Given the description of an element on the screen output the (x, y) to click on. 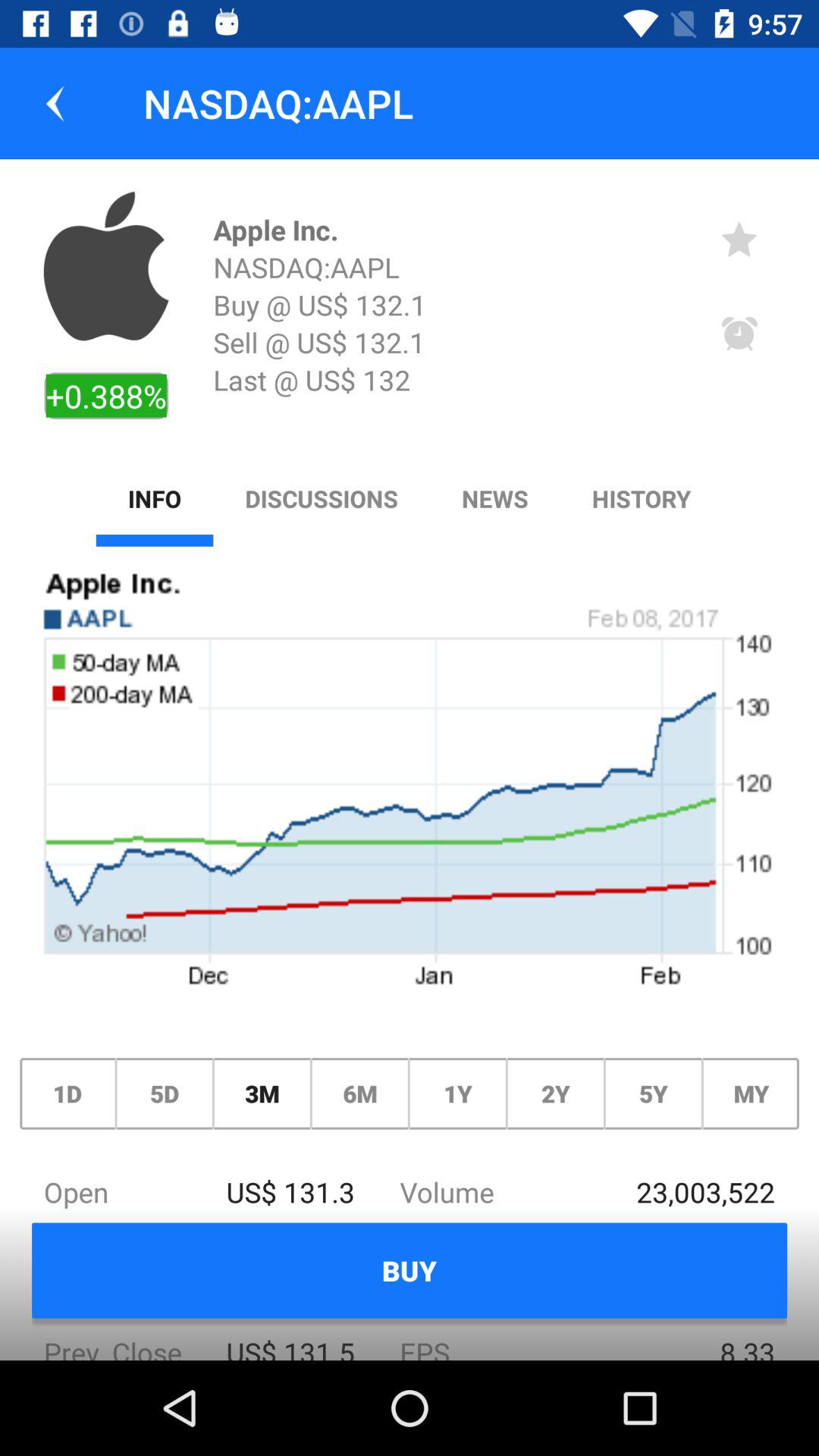
select icon above the 1d (409, 786)
